Given the description of an element on the screen output the (x, y) to click on. 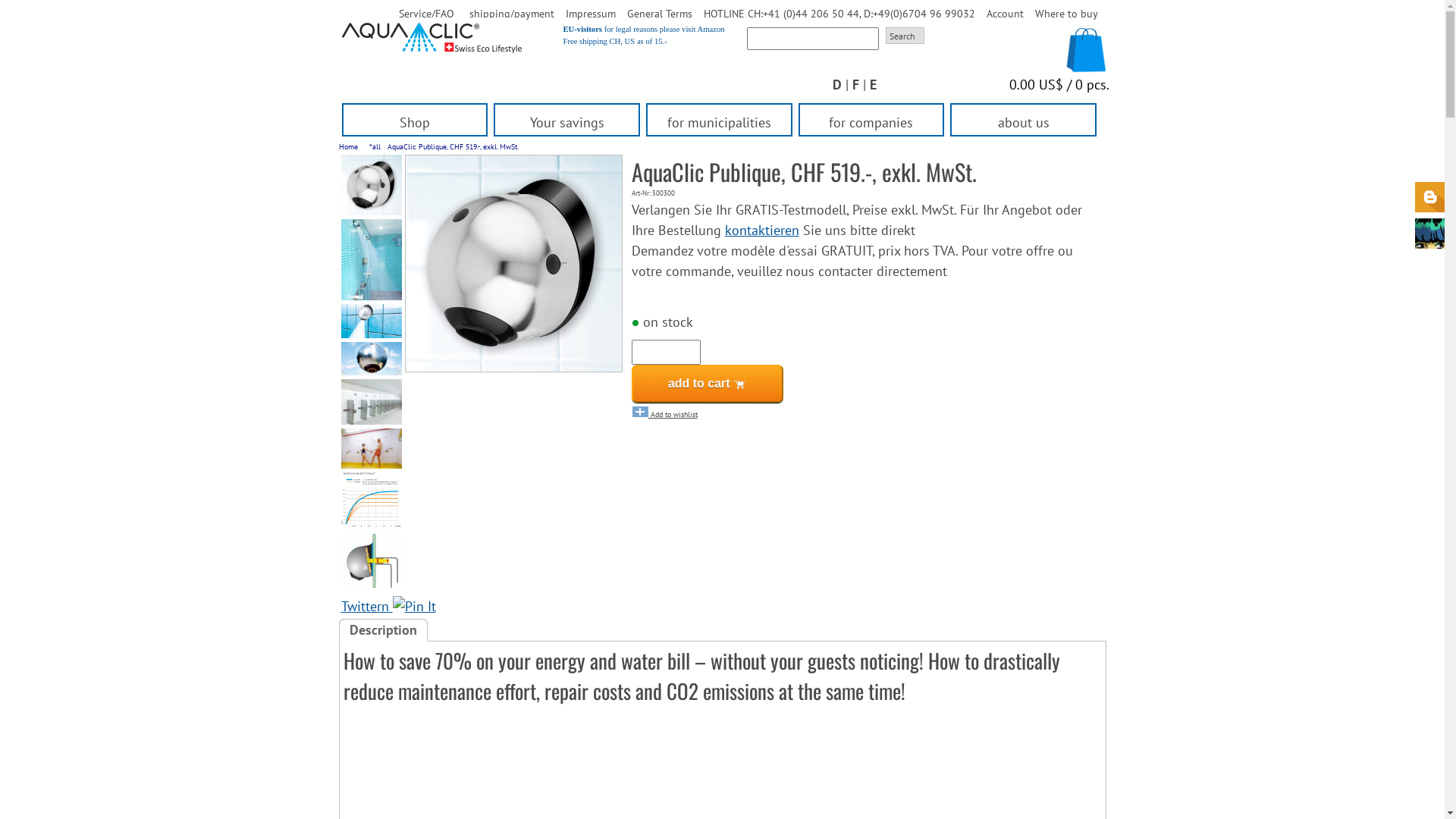
Search Element type: text (904, 35)
Account Element type: text (1003, 13)
about us Element type: text (1023, 123)
Where to buy Element type: text (1065, 13)
0.00 US$ / 0 pcs. Element type: text (1058, 84)
Service/FAQ Element type: text (426, 13)
for companies Element type: text (871, 123)
Gaestebuch/avis clients/reviews Element type: hover (1430, 233)
General Terms Element type: text (658, 13)
shipping/payment Element type: text (510, 13)
EU-visitors for legal reasons please visit Amazon Element type: text (643, 29)
Your savings Element type: text (566, 123)
Planned delivery date: 28.11.2023 Element type: hover (634, 322)
Free shipping CH, US as of 15.- Element type: text (614, 41)
HOTLINE CH:+41 (0)44 206 50 44, D:+49(0)6704 96 99032 Element type: text (839, 13)
E Element type: text (872, 84)
Shop Element type: text (414, 123)
Impressum Element type: text (590, 13)
F Element type: text (855, 84)
Home Element type: text (348, 146)
Add to wishlist Element type: text (663, 414)
Wasserspar Blog AquaClic Element type: hover (1430, 197)
add to cart Element type: text (706, 383)
for municipalities Element type: text (718, 123)
Twittern Element type: text (366, 606)
*all Element type: text (373, 146)
Pin It Element type: hover (414, 606)
kontaktieren Element type: text (761, 229)
Description Element type: text (382, 629)
D Element type: text (836, 84)
